Given the description of an element on the screen output the (x, y) to click on. 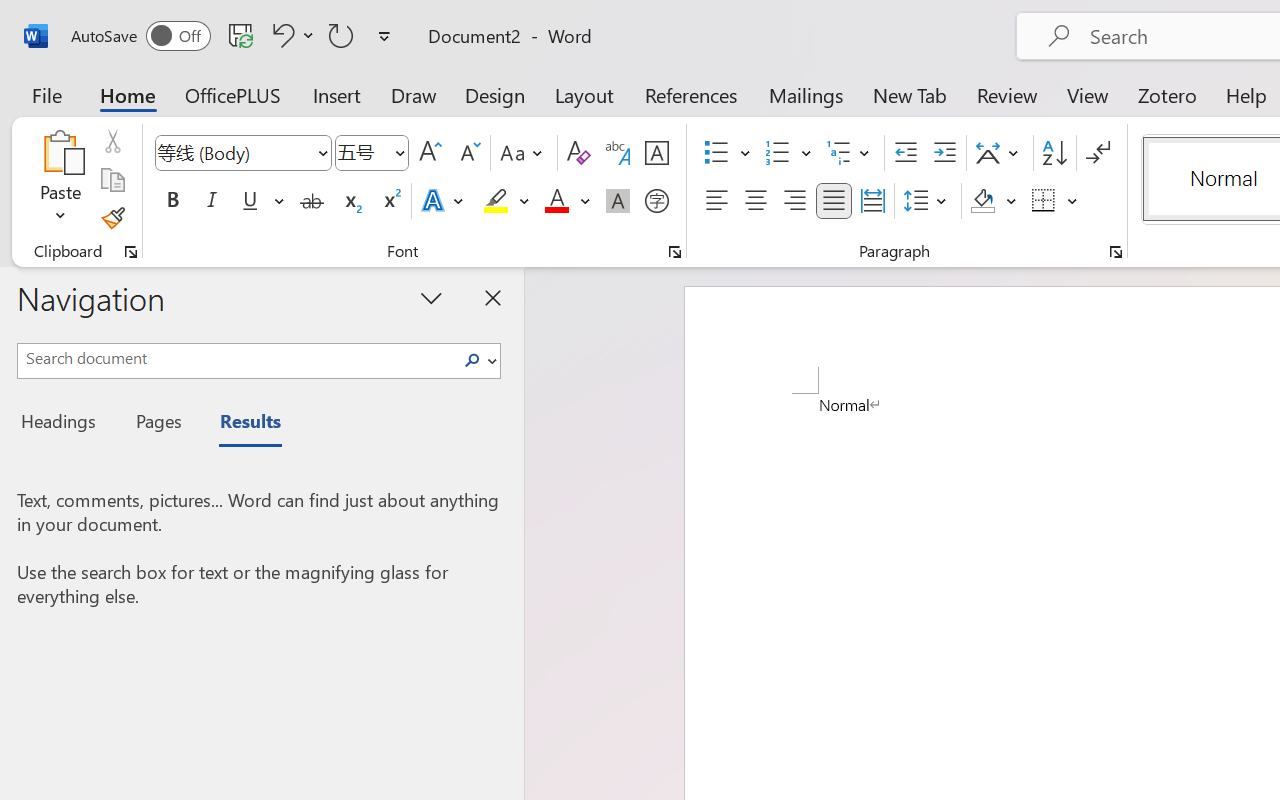
Underline (261, 201)
Shading RGB(0, 0, 0) (982, 201)
Character Shading (618, 201)
Numbering (778, 153)
Mailings (806, 94)
Underline (250, 201)
Font Color Red (556, 201)
Enclose Characters... (656, 201)
Format Painter (112, 218)
Phonetic Guide... (618, 153)
Task Pane Options (431, 297)
Numbering (788, 153)
Search (478, 360)
Cut (112, 141)
Bullets (727, 153)
